Given the description of an element on the screen output the (x, y) to click on. 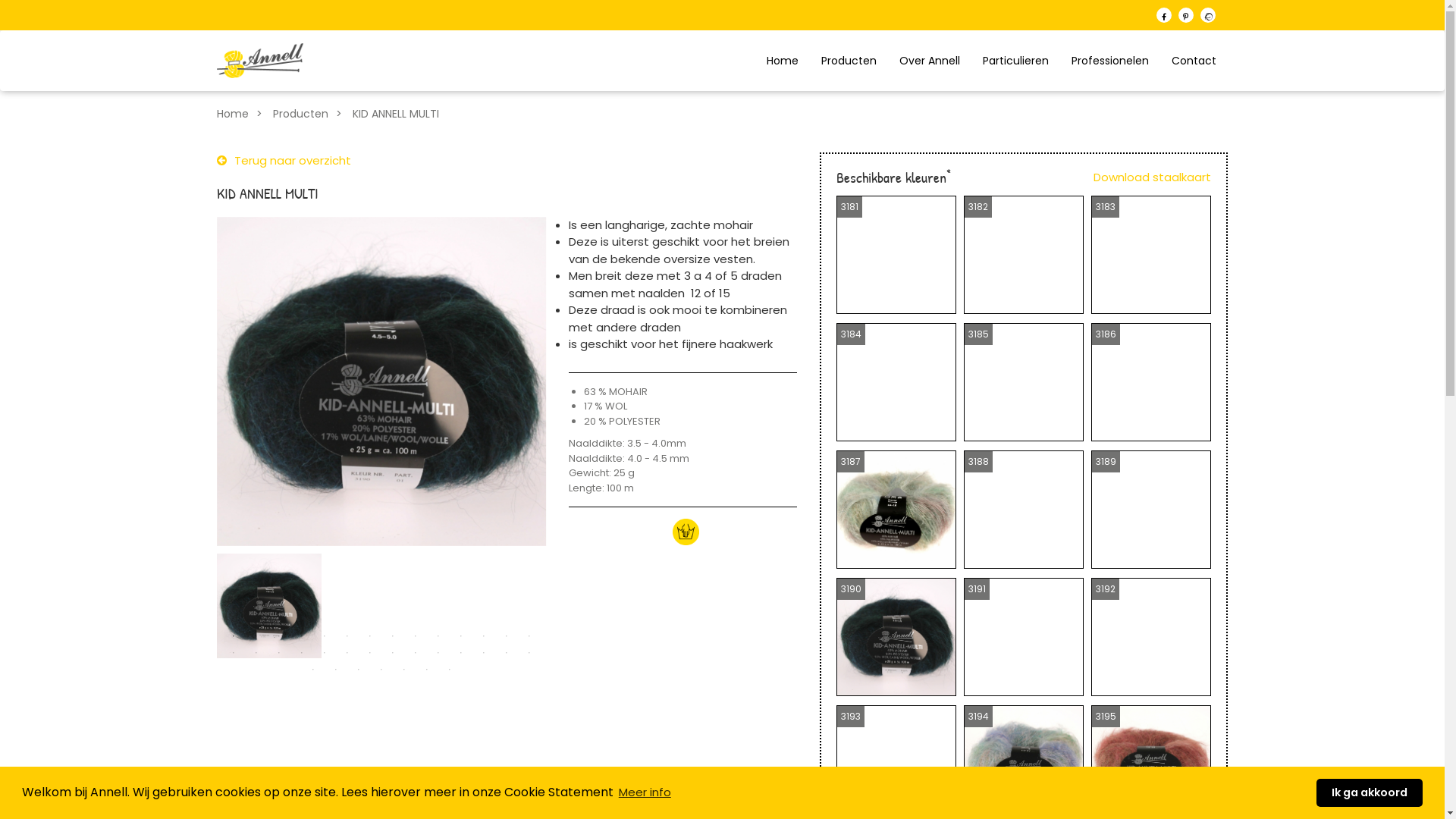
31 Element type: text (358, 668)
8 Element type: text (392, 635)
Over Annell Element type: text (929, 60)
22 Element type: text (392, 651)
24 Element type: text (437, 651)
17 Element type: text (278, 651)
21 Element type: text (369, 651)
7 Element type: text (369, 635)
2 Element type: text (255, 635)
Home Element type: text (782, 60)
28 Element type: text (528, 651)
29 Element type: text (312, 668)
33 Element type: text (403, 668)
5 Element type: text (324, 635)
18 Element type: text (301, 651)
19 Element type: text (324, 651)
Home Element type: text (242, 114)
Producten Element type: text (311, 114)
30 Element type: text (335, 668)
34 Element type: text (426, 668)
23 Element type: text (415, 651)
Terug naar overzicht Element type: text (283, 160)
27 Element type: text (506, 651)
12 Element type: text (483, 635)
10 Element type: text (437, 635)
9 Element type: text (415, 635)
Ik ga akkoord Element type: text (1369, 792)
4 Element type: text (301, 635)
3 Element type: text (278, 635)
Producten Element type: text (848, 60)
Contact Element type: text (1193, 60)
35 Element type: text (449, 668)
6 Element type: text (346, 635)
Download staalkaart Element type: text (1152, 177)
15 Element type: text (233, 651)
20 Element type: text (346, 651)
11 Element type: text (460, 635)
13 Element type: text (506, 635)
32 Element type: text (381, 668)
Professionelen Element type: text (1110, 60)
14 Element type: text (528, 635)
26 Element type: text (483, 651)
Particulieren Element type: text (1015, 60)
1 Element type: text (233, 635)
Meer info Element type: text (644, 792)
25 Element type: text (460, 651)
16 Element type: text (255, 651)
